Given the description of an element on the screen output the (x, y) to click on. 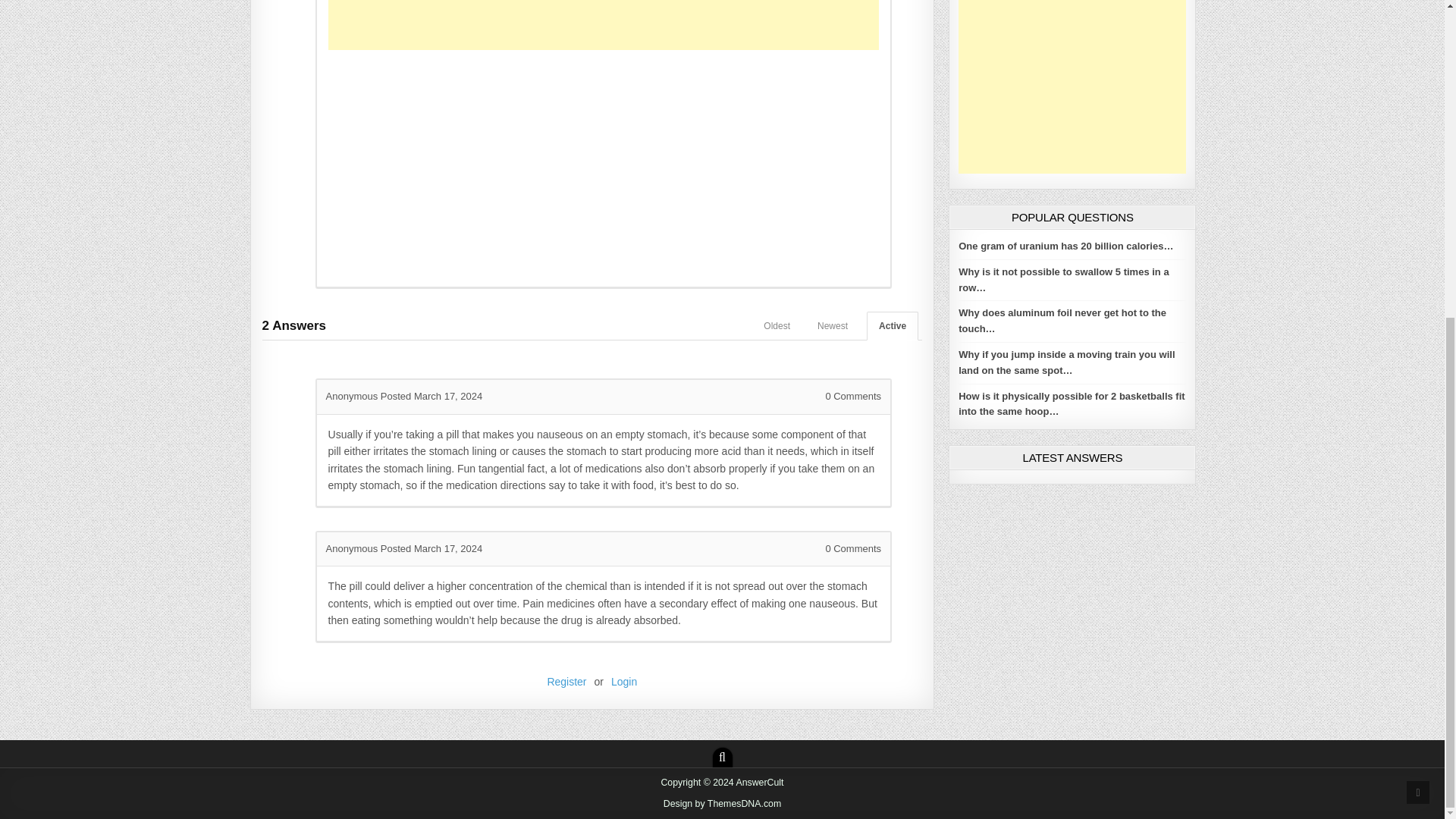
Advertisement (604, 163)
Register (566, 681)
Login (624, 681)
Design by ThemesDNA.com (722, 803)
Advertisement (1072, 86)
Active (892, 325)
Scroll to Top (1417, 279)
Posted March 17, 2024 (430, 396)
Oldest (776, 325)
Search (722, 757)
